Given the description of an element on the screen output the (x, y) to click on. 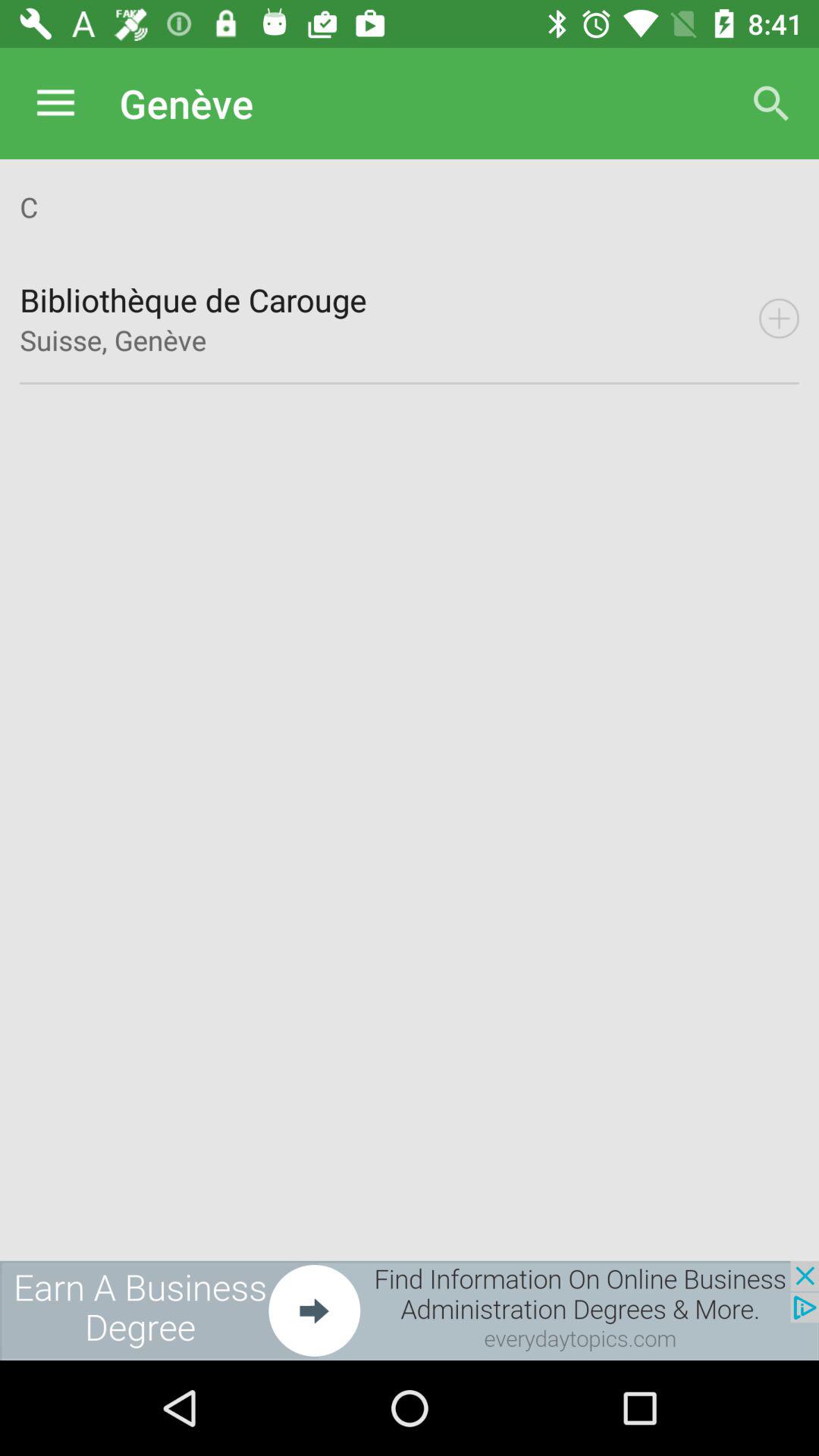
add information (779, 318)
